Given the description of an element on the screen output the (x, y) to click on. 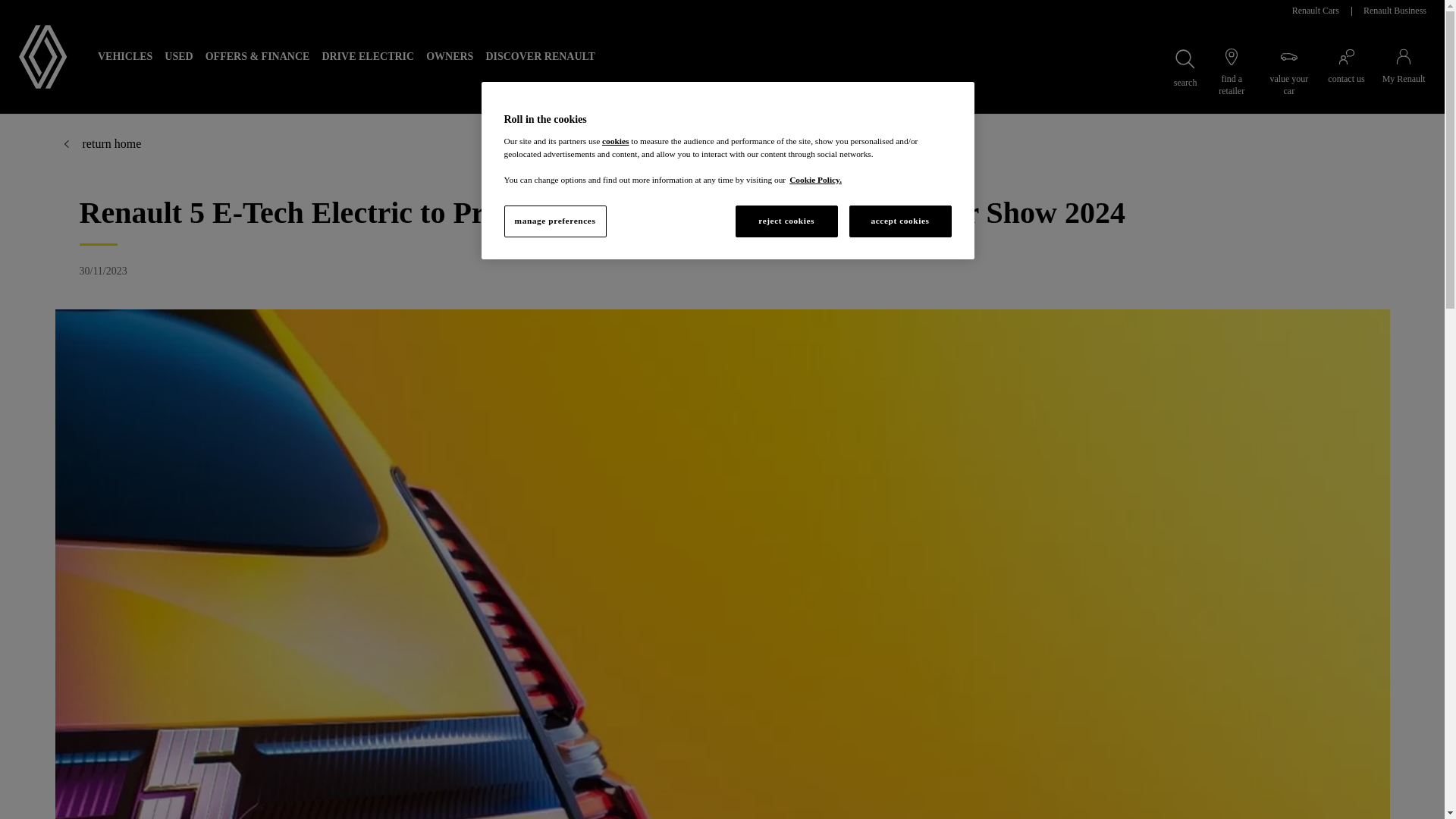
USED (178, 56)
Renault Business (1394, 11)
Vehicles (123, 56)
Renault Business (1394, 11)
VEHICLES (123, 56)
DRIVE ELECTRIC (367, 56)
Renault Cars (1315, 11)
Used (178, 56)
Renault Cars (1315, 11)
